Given the description of an element on the screen output the (x, y) to click on. 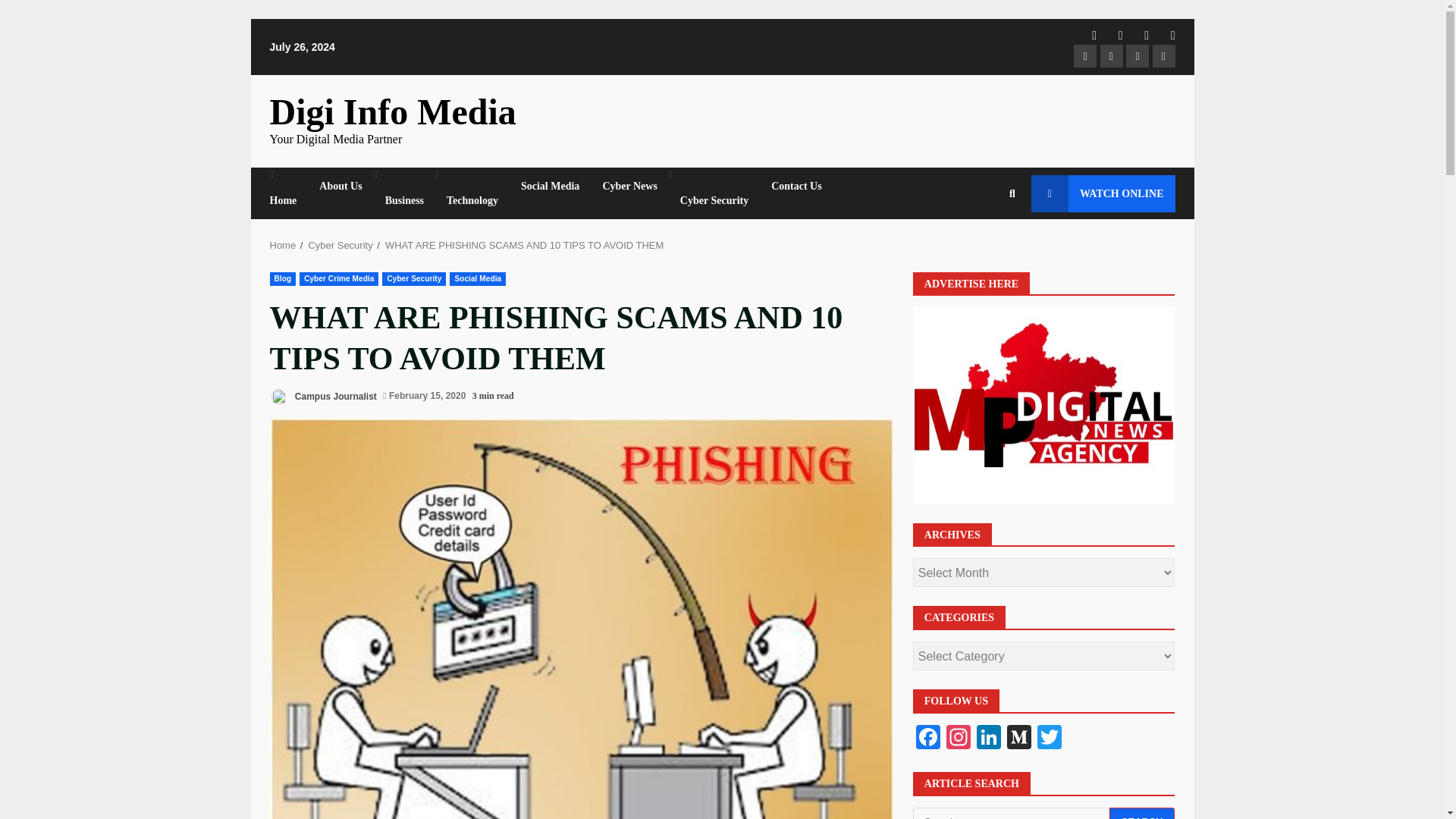
Instagram (958, 738)
Social Media (477, 278)
WHAT ARE PHISHING SCAMS AND 10 TIPS TO AVOID THEM (524, 244)
Social Media (550, 185)
Cyber Security (714, 200)
Cyber Security (339, 244)
Youtube (1163, 56)
Cyber News (629, 185)
Contact Us (791, 185)
Home (283, 244)
Search (1141, 813)
Business (404, 200)
Campus Journalist (323, 396)
Search (1141, 813)
